Given the description of an element on the screen output the (x, y) to click on. 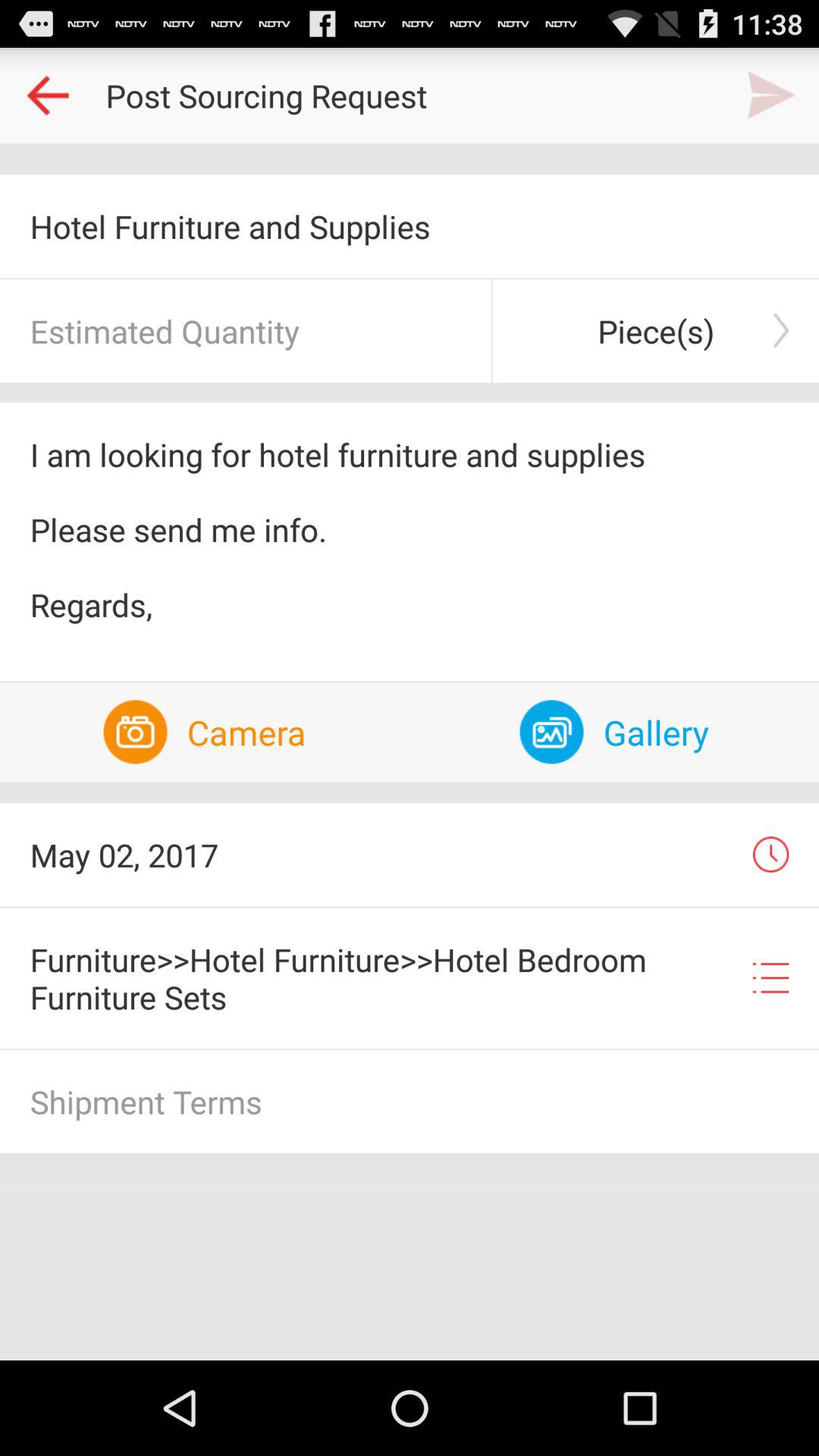
select shipment terms (409, 1101)
